Given the description of an element on the screen output the (x, y) to click on. 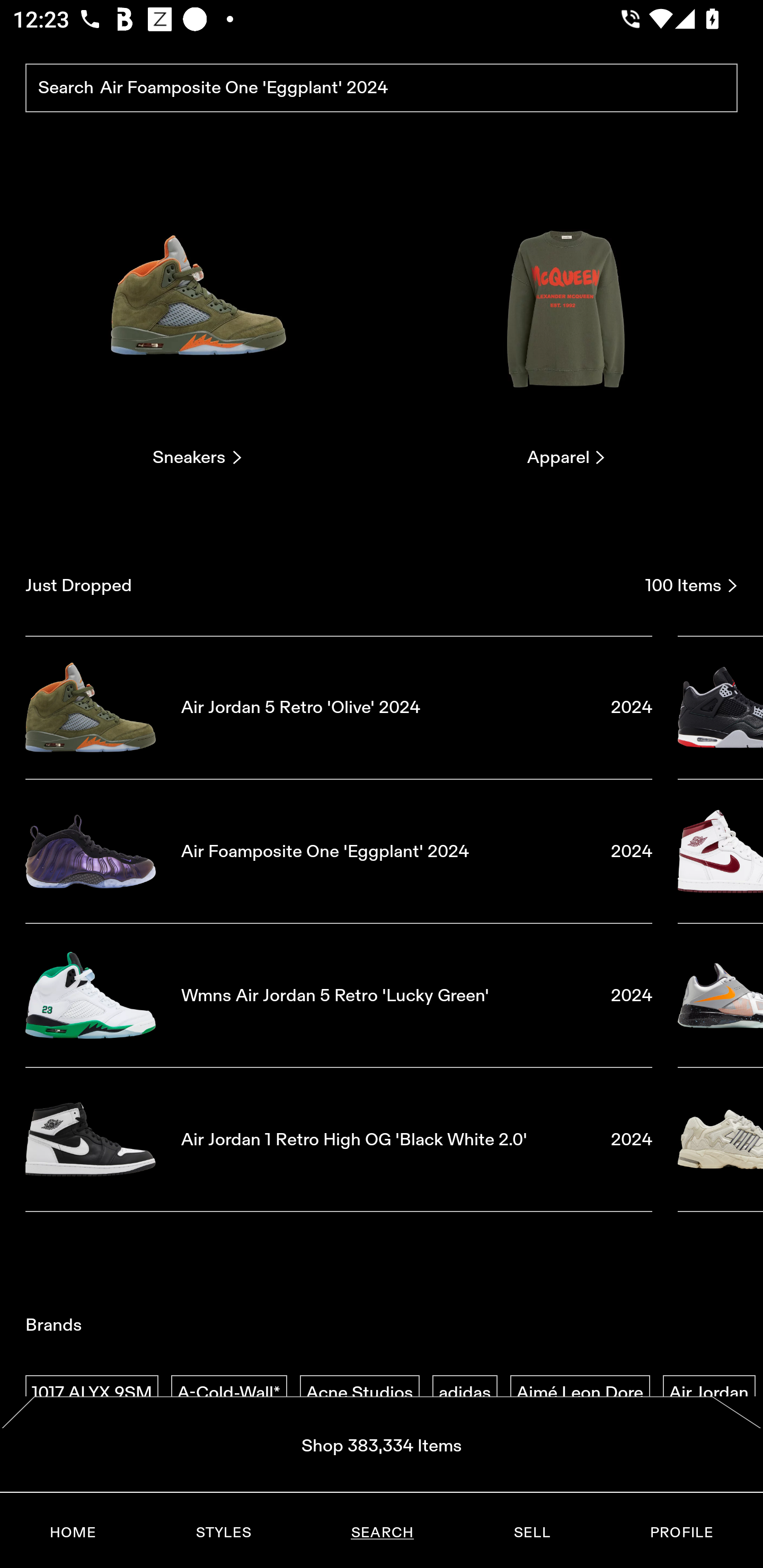
Search (381, 88)
Sneakers (196, 323)
Apparel (565, 323)
Just Dropped (328, 585)
100 Items (691, 585)
Air Jordan 5 Retro 'Olive' 2024 2024 (338, 707)
Air Foamposite One 'Eggplant' 2024 2024 (338, 851)
Wmns Air Jordan 5 Retro 'Lucky Green' 2024 (338, 995)
Air Jordan 1 Retro High OG 'Black White 2.0' 2024 (338, 1139)
1017 ALYX 9SM (91, 1393)
A-Cold-Wall* (228, 1393)
Acne Studios (359, 1393)
adidas (464, 1393)
Aimé Leon Dore (580, 1393)
Air Jordan (709, 1393)
HOME (72, 1532)
STYLES (222, 1532)
SEARCH (381, 1532)
SELL (531, 1532)
PROFILE (681, 1532)
